Given the description of an element on the screen output the (x, y) to click on. 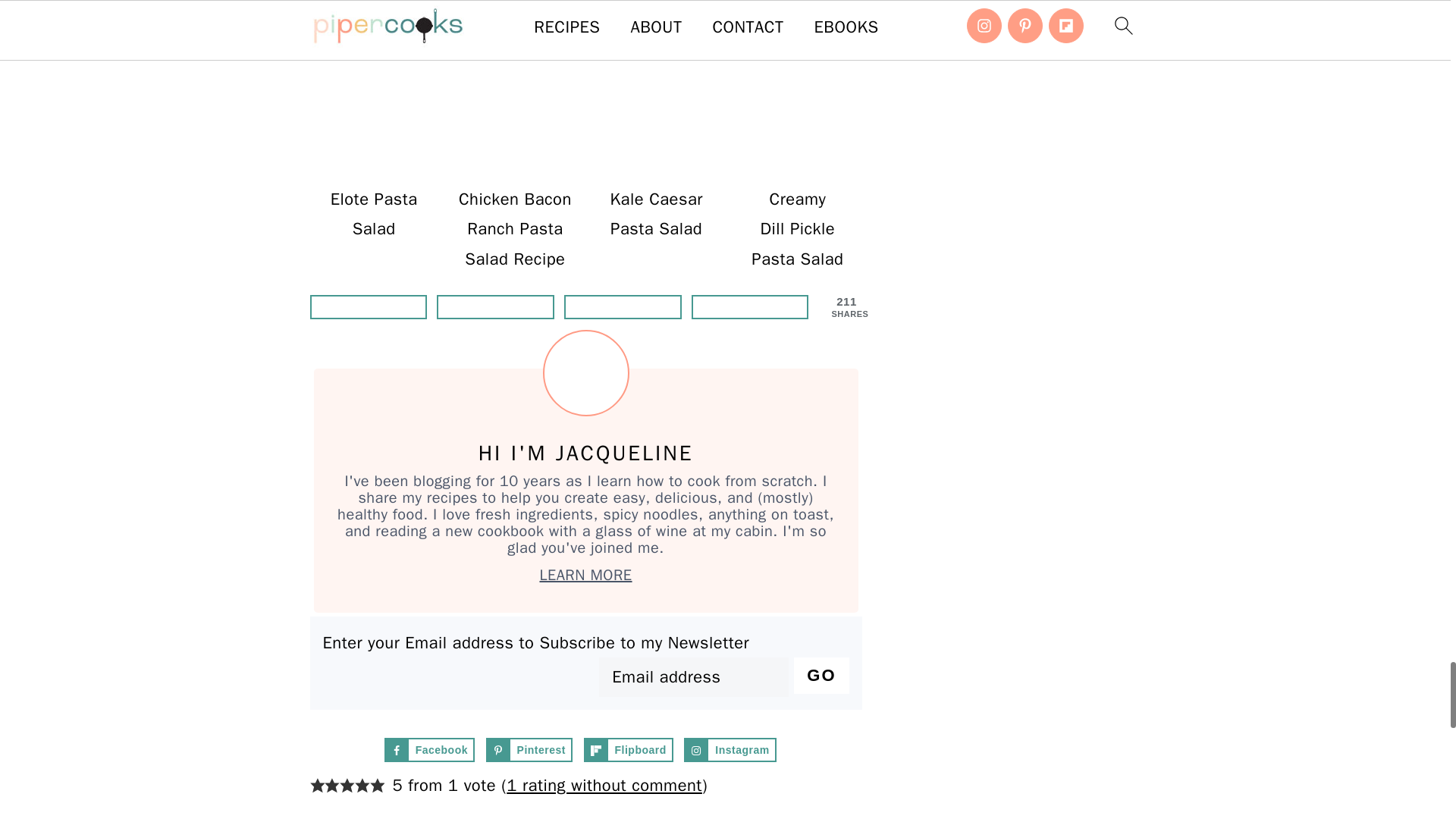
Follow on Facebook (429, 749)
Follow on Flipboard (627, 749)
Share on Flipboard (495, 306)
Share on Yummly (750, 306)
Go (820, 675)
Follow on Pinterest (529, 749)
Share on Facebook (622, 306)
Follow on Instagram (730, 749)
Save to Pinterest (367, 306)
